Given the description of an element on the screen output the (x, y) to click on. 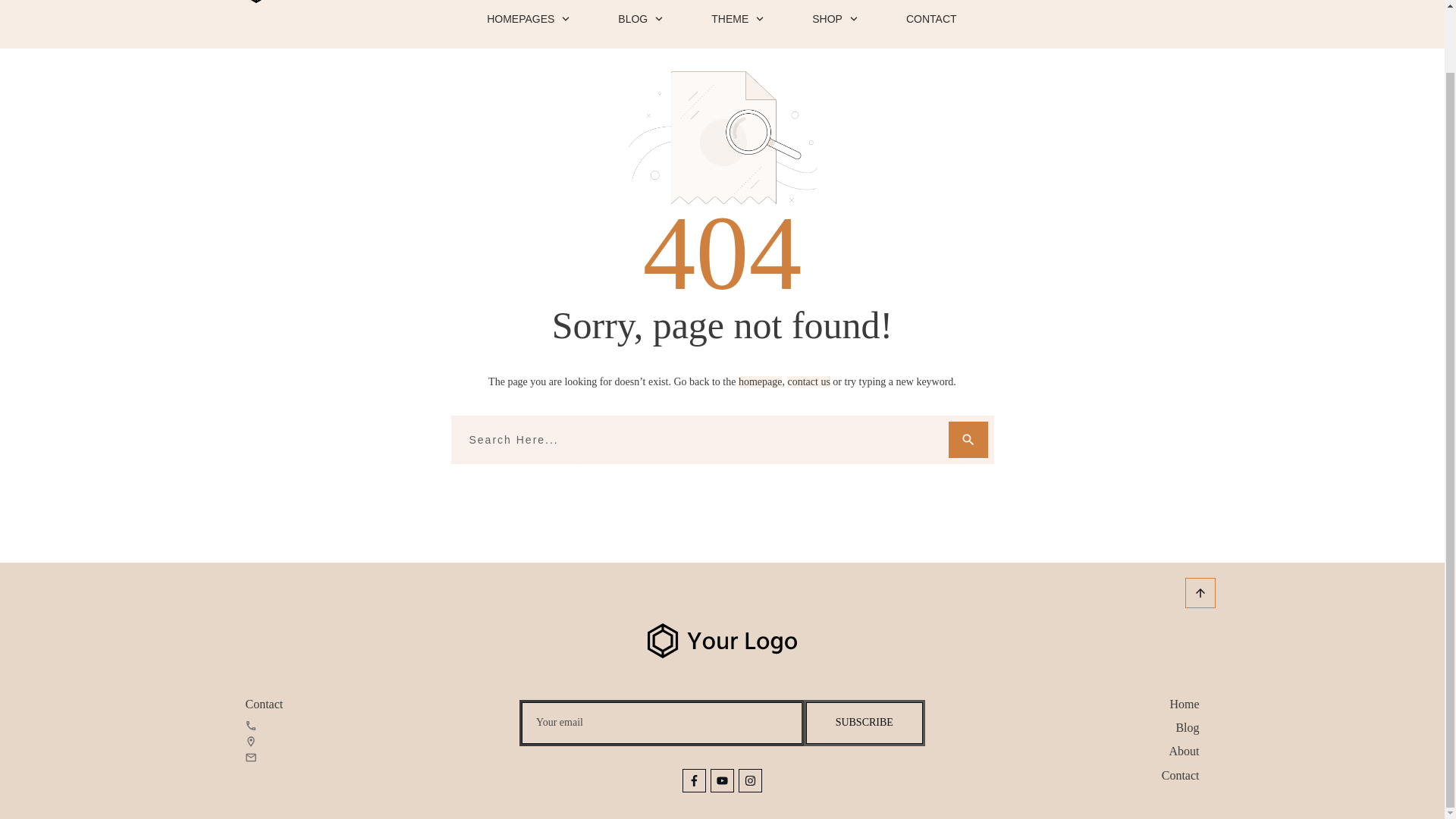
THEME (738, 18)
SUBSCRIBE (864, 722)
SHOP (835, 18)
homepage (760, 381)
HOMEPAGES (528, 18)
contact us (808, 381)
BLOG (640, 18)
CONTACT (930, 18)
